Given the description of an element on the screen output the (x, y) to click on. 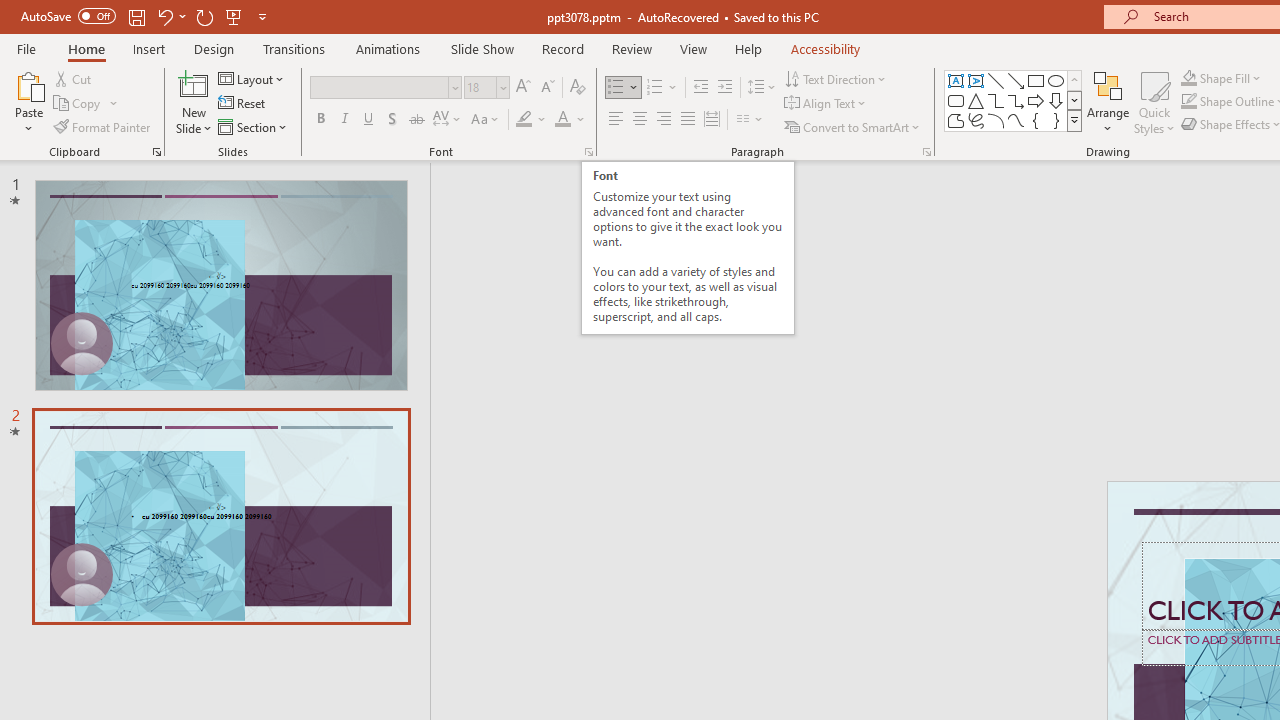
Arrow: Down (1055, 100)
Rectangle (1035, 80)
Freeform: Scribble (975, 120)
Align Left (616, 119)
Design (214, 48)
Oval (1055, 80)
Reset (243, 103)
Font (385, 87)
Clear Formatting (577, 87)
Shapes (1074, 120)
Text Highlight Color (531, 119)
Cut (73, 78)
Align Right (663, 119)
Section (254, 126)
View (693, 48)
